Given the description of an element on the screen output the (x, y) to click on. 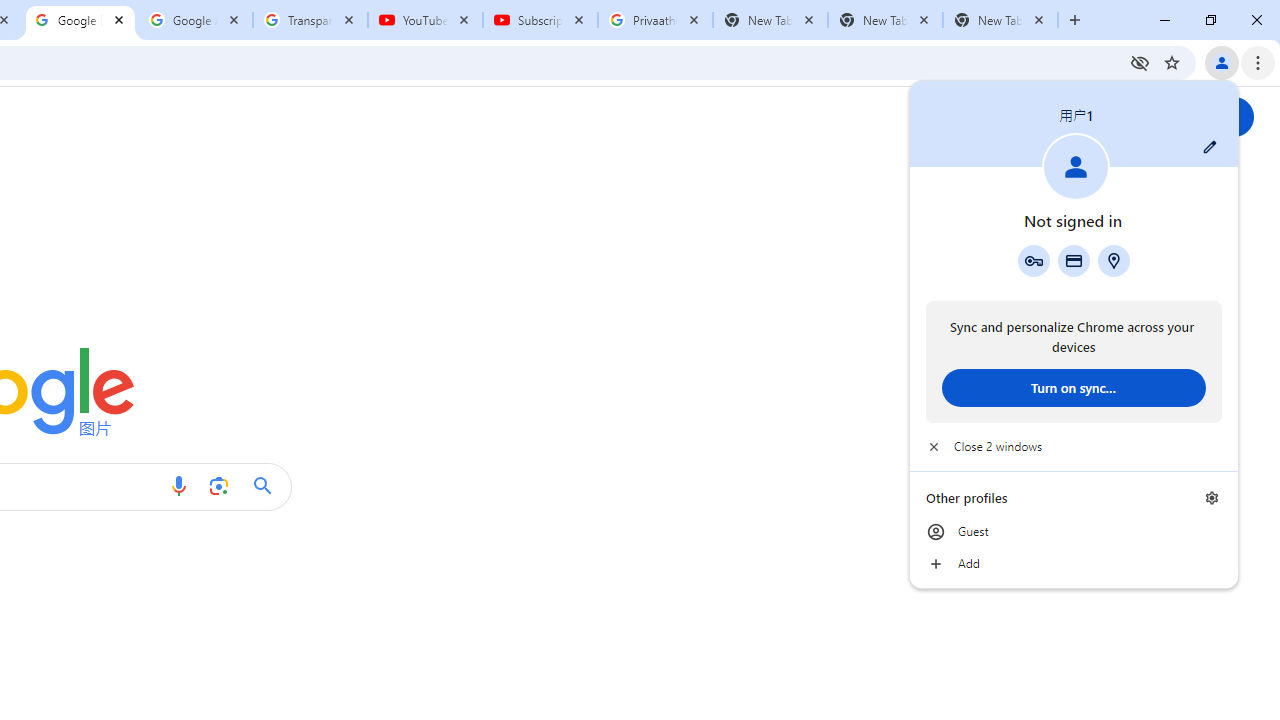
Subscriptions - YouTube (539, 20)
Guest (1073, 531)
Close 2 windows (1073, 446)
Google Password Manager (1033, 260)
